Given the description of an element on the screen output the (x, y) to click on. 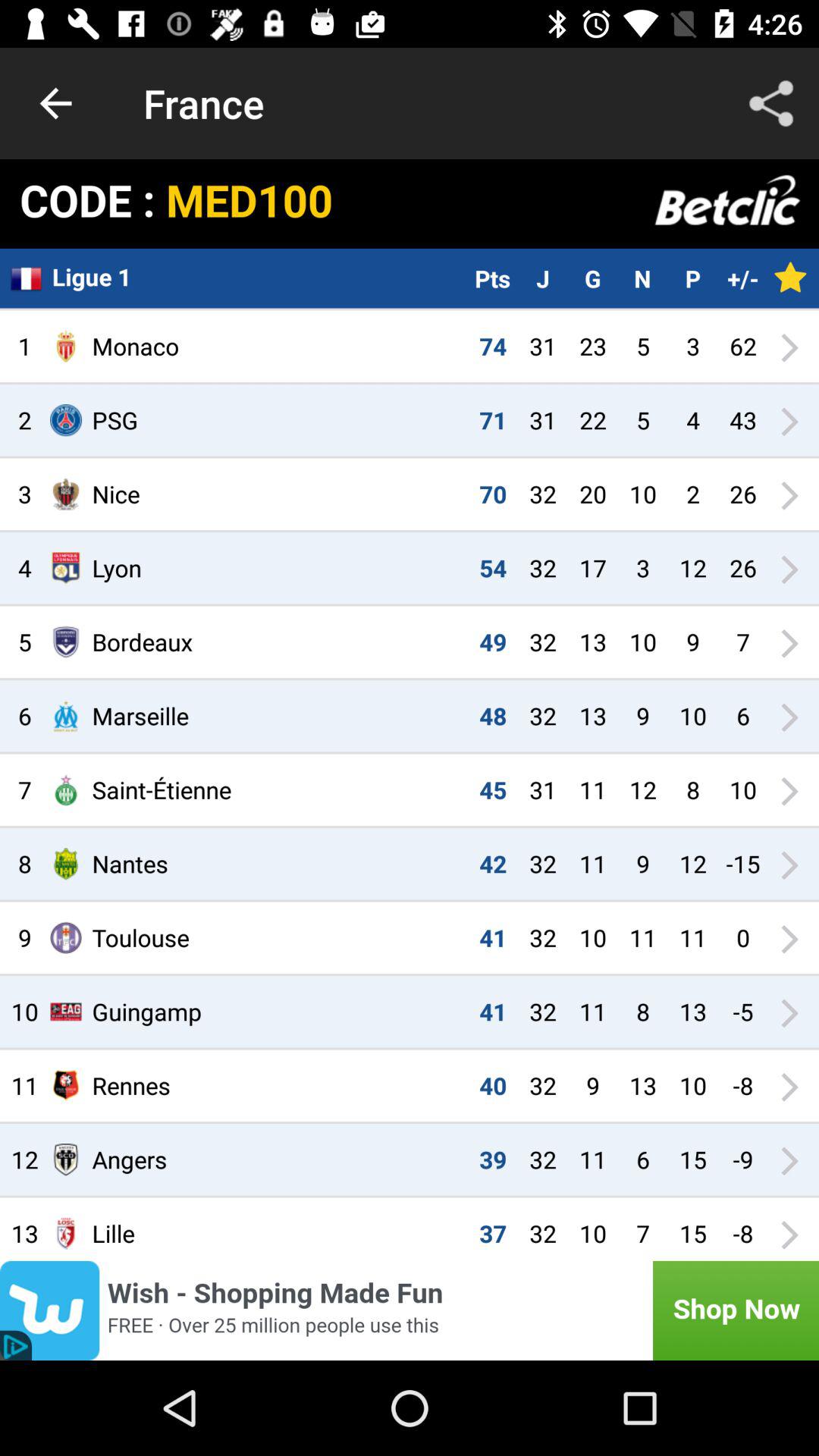
click discriiption (409, 1310)
